Given the description of an element on the screen output the (x, y) to click on. 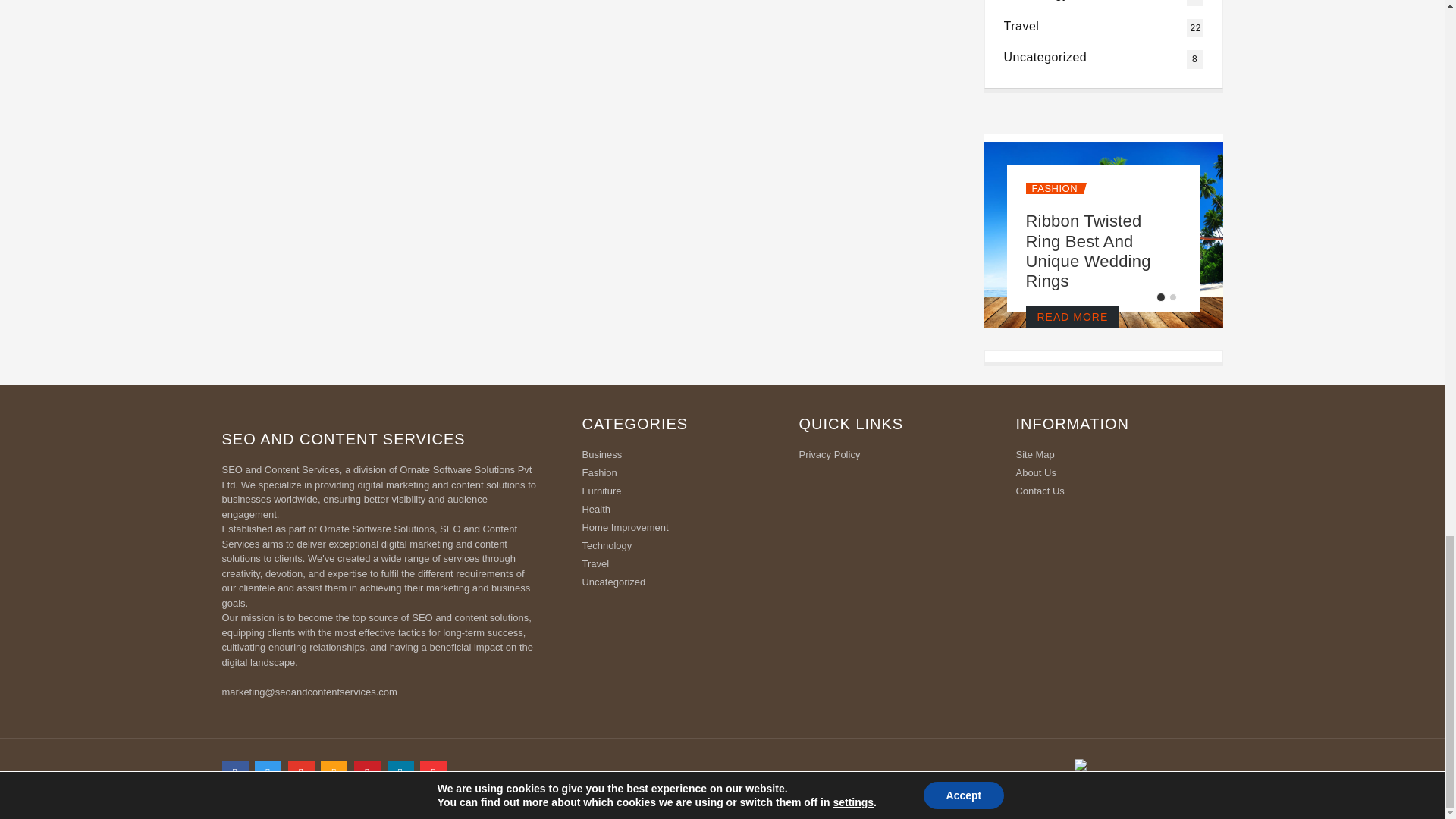
Ribbon Twisted Ring Best And Unique Wedding Rings (1087, 250)
Fashion (1021, 25)
Technology (1053, 188)
Uncategorized (1036, 0)
Travel (1045, 56)
